Given the description of an element on the screen output the (x, y) to click on. 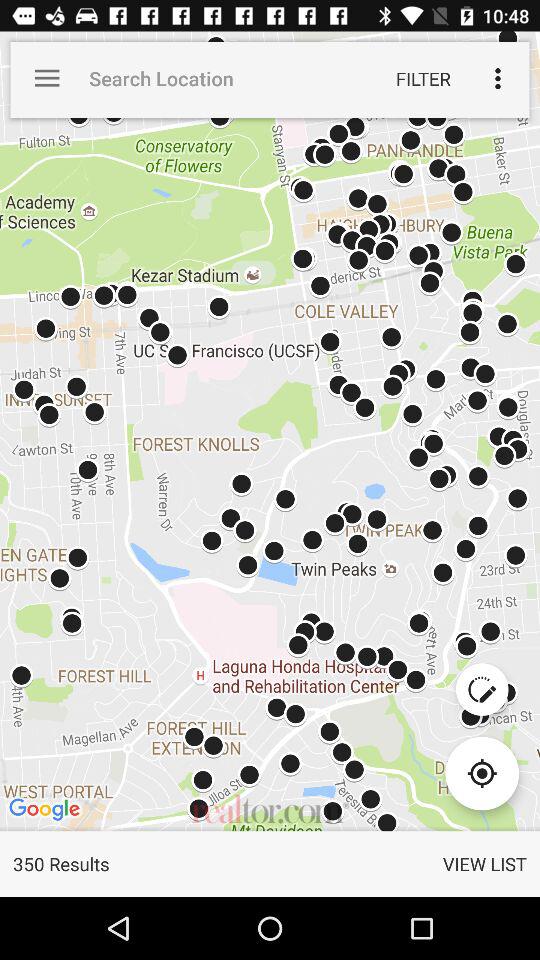
launch item above the view list item (482, 773)
